Given the description of an element on the screen output the (x, y) to click on. 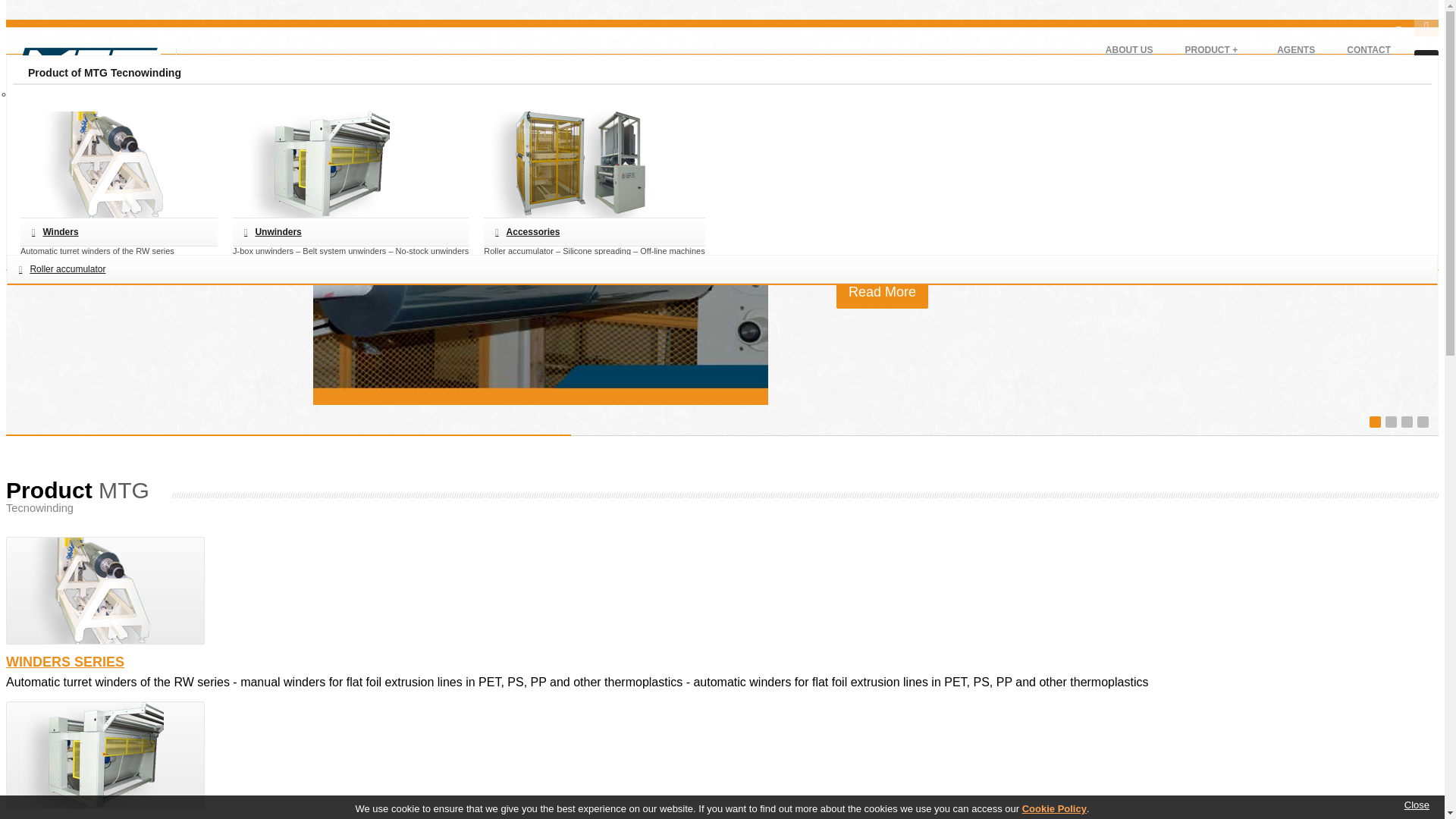
Winders (118, 232)
Accessories (593, 232)
Read More (881, 292)
ABOUT US (1129, 48)
AGENTS (1295, 48)
Skip to content (45, 11)
WINDERS SERIES (64, 661)
Product of MTG Tecnowinding (1211, 48)
Unwinders (350, 232)
WINDERS Series (105, 590)
CONTACT (1368, 48)
mtg group (85, 75)
Automatic turret winders (881, 292)
Automatic turret winders of the RW series (118, 232)
